Given the description of an element on the screen output the (x, y) to click on. 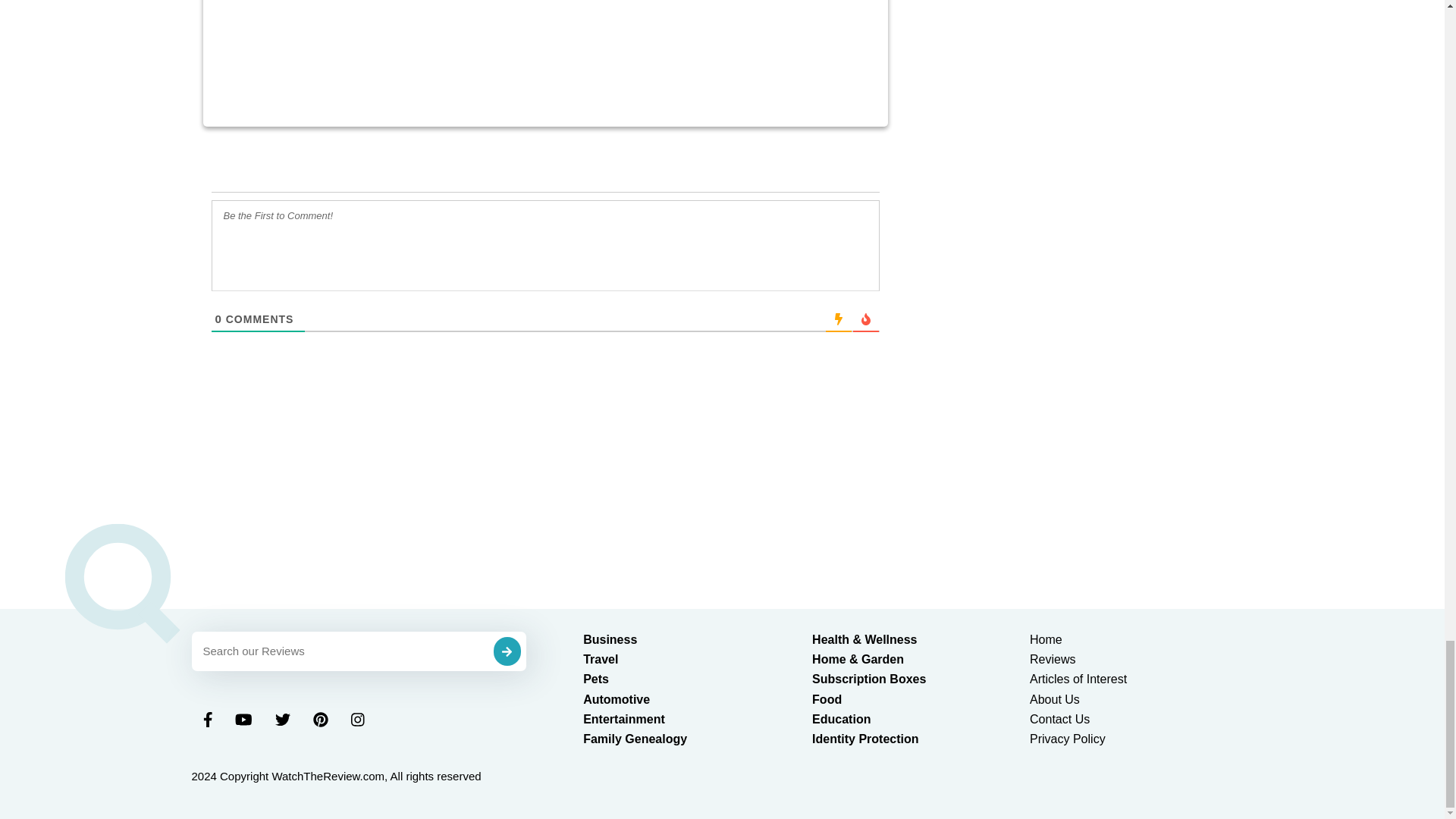
Pets (595, 678)
Family Genealogy (635, 738)
Food (826, 698)
Travel (600, 658)
Subscription Boxes (869, 678)
Business (610, 639)
Advertisement (544, 48)
Entertainment (624, 718)
Automotive (616, 698)
